Given the description of an element on the screen output the (x, y) to click on. 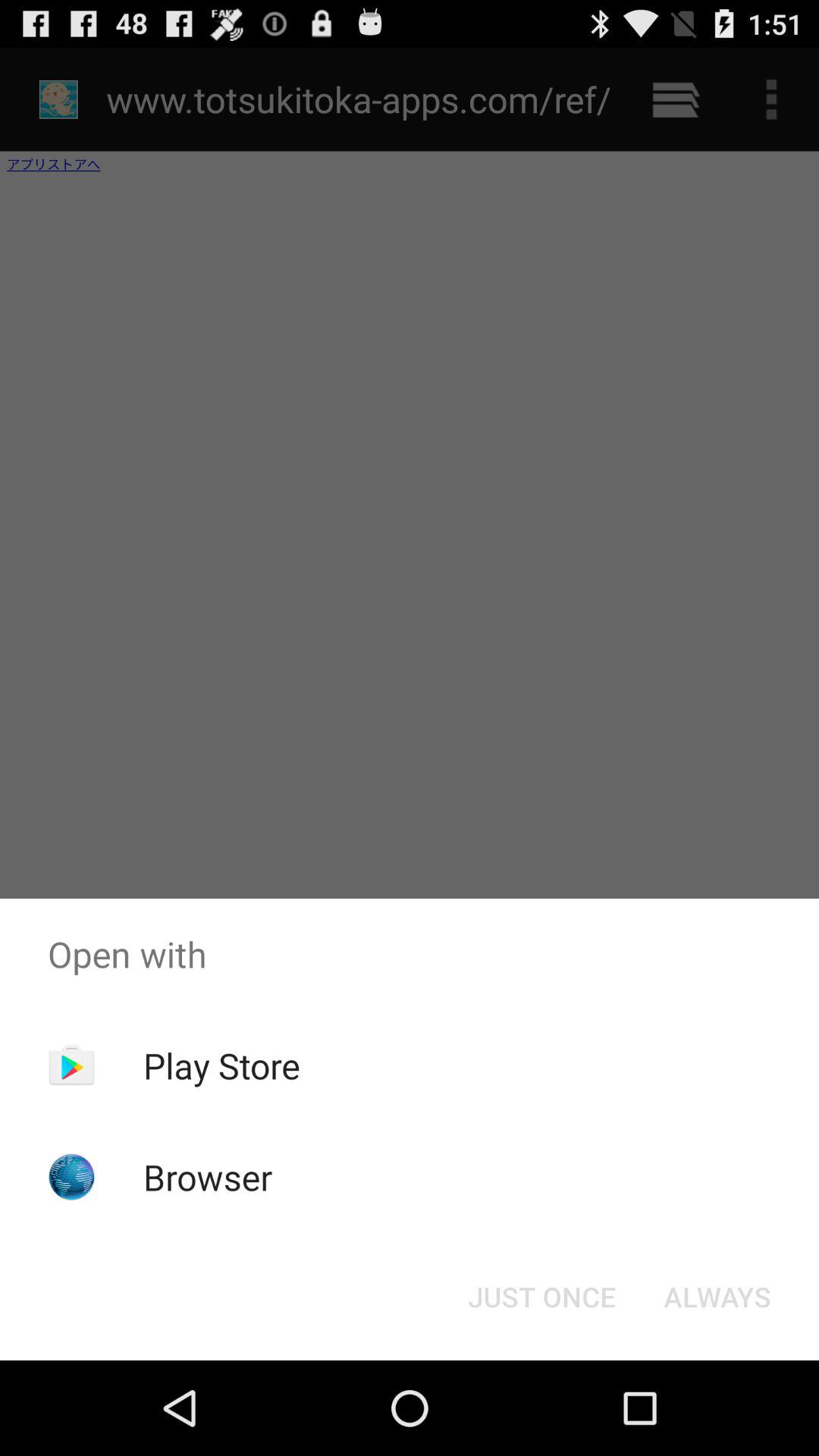
swipe to the browser item (207, 1176)
